Given the description of an element on the screen output the (x, y) to click on. 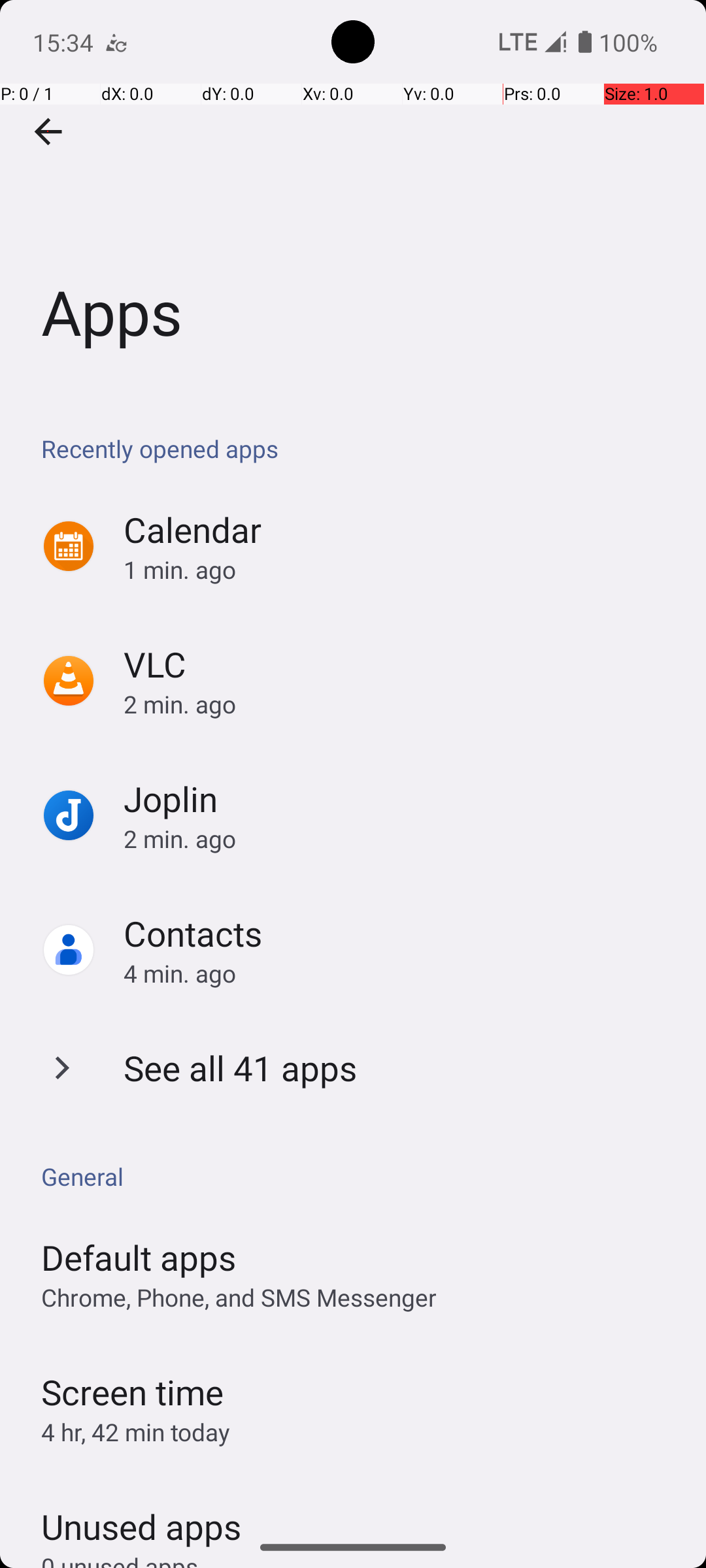
4 min. ago Element type: android.widget.TextView (400, 972)
4 hr, 42 min today Element type: android.widget.TextView (135, 1431)
